Given the description of an element on the screen output the (x, y) to click on. 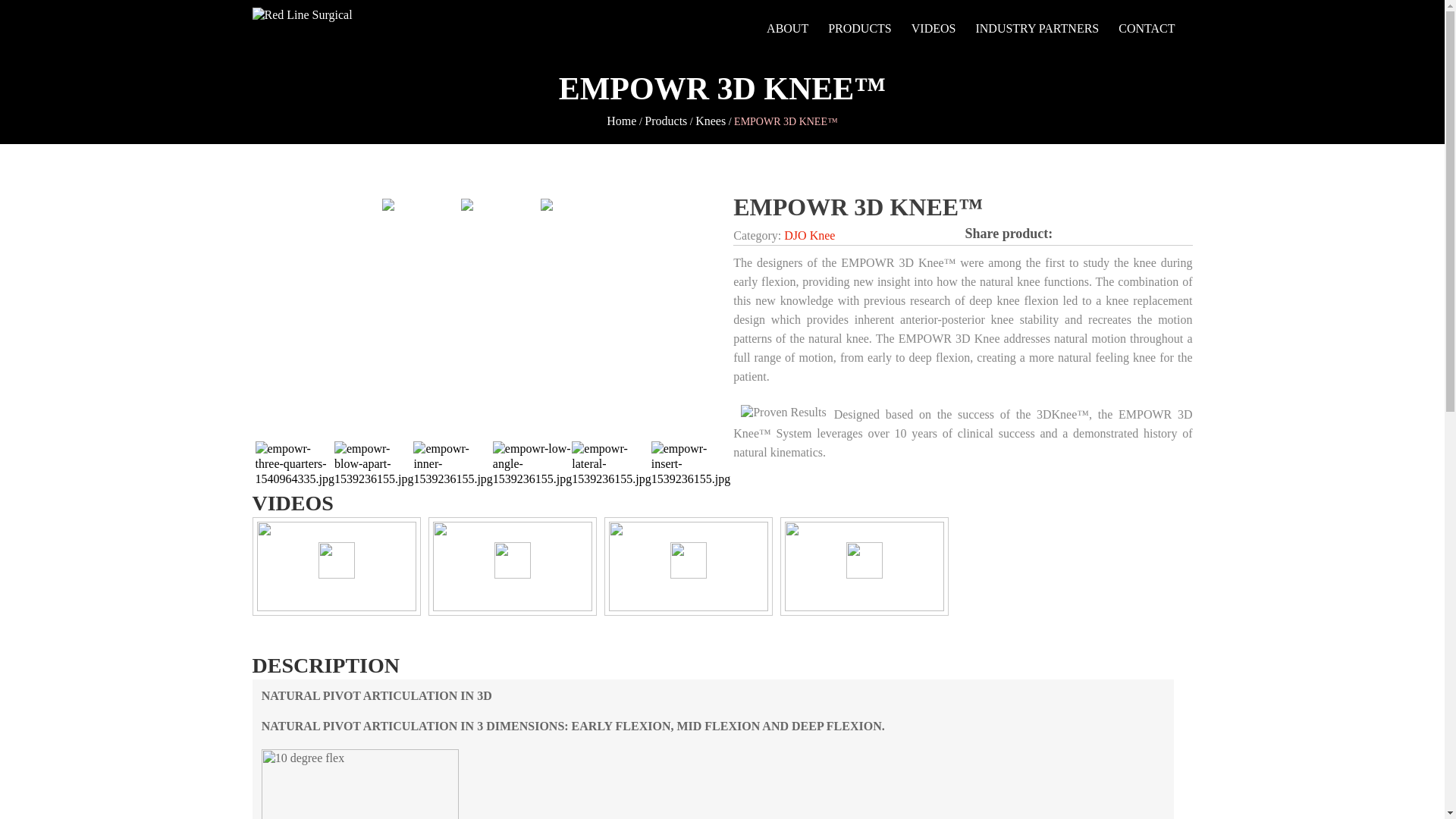
CONTACT (1146, 28)
VIDEOS (933, 28)
Knees (710, 120)
PRODUCTS (859, 28)
Home (621, 120)
Products (666, 120)
ABOUT (787, 28)
DJO Knee (809, 235)
INDUSTRY PARTNERS (1037, 28)
